Given the description of an element on the screen output the (x, y) to click on. 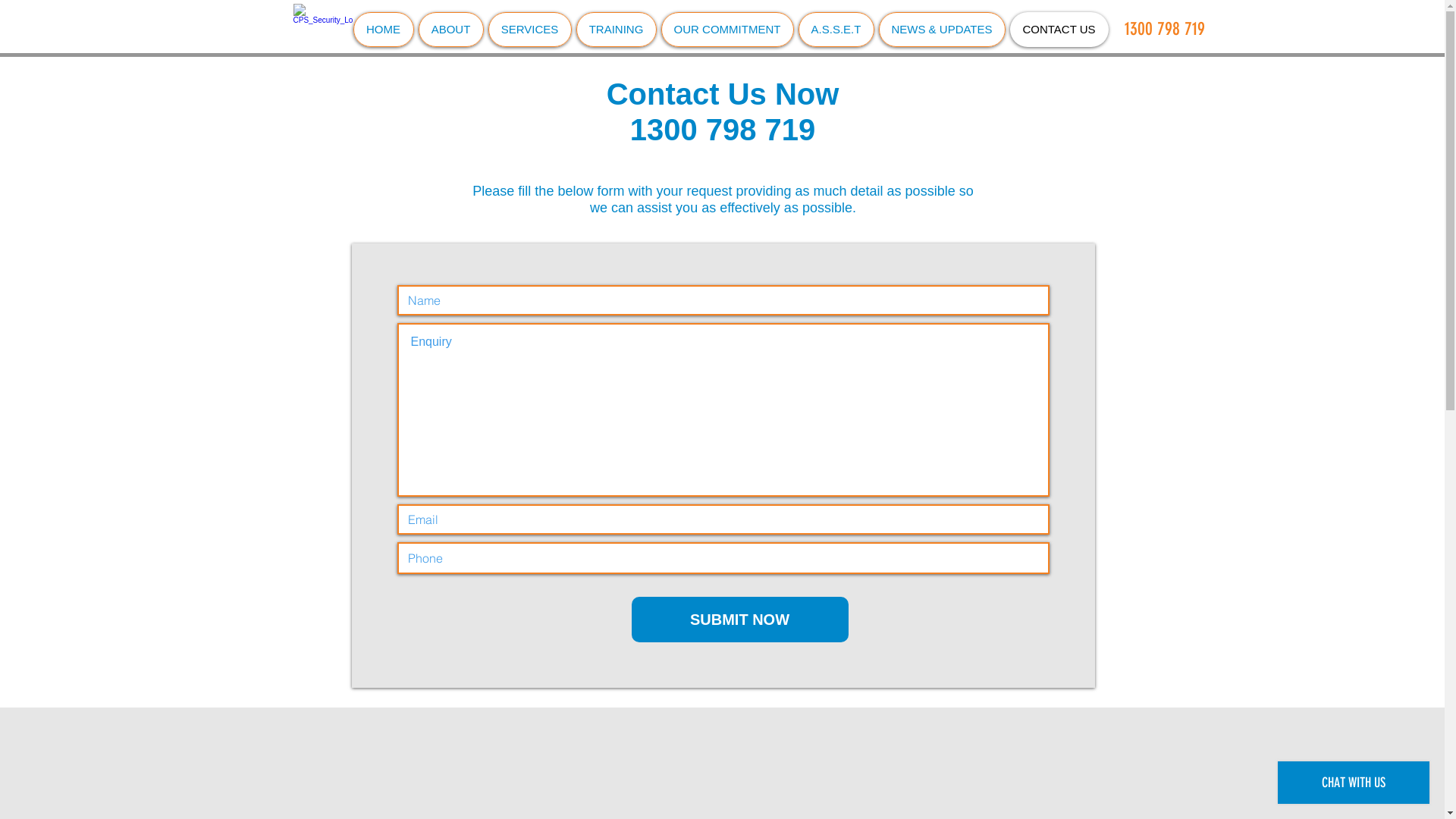
HOME Element type: text (383, 29)
A.S.S.E.T Element type: text (835, 29)
SERVICES Element type: text (529, 29)
ABOUT Element type: text (450, 29)
OUR COMMITMENT Element type: text (727, 29)
1300 798 719 Element type: text (1163, 29)
CONTACT US Element type: text (1059, 29)
SUBMIT NOW Element type: text (738, 619)
TRAINING Element type: text (616, 29)
NEWS & UPDATES Element type: text (941, 29)
